Given the description of an element on the screen output the (x, y) to click on. 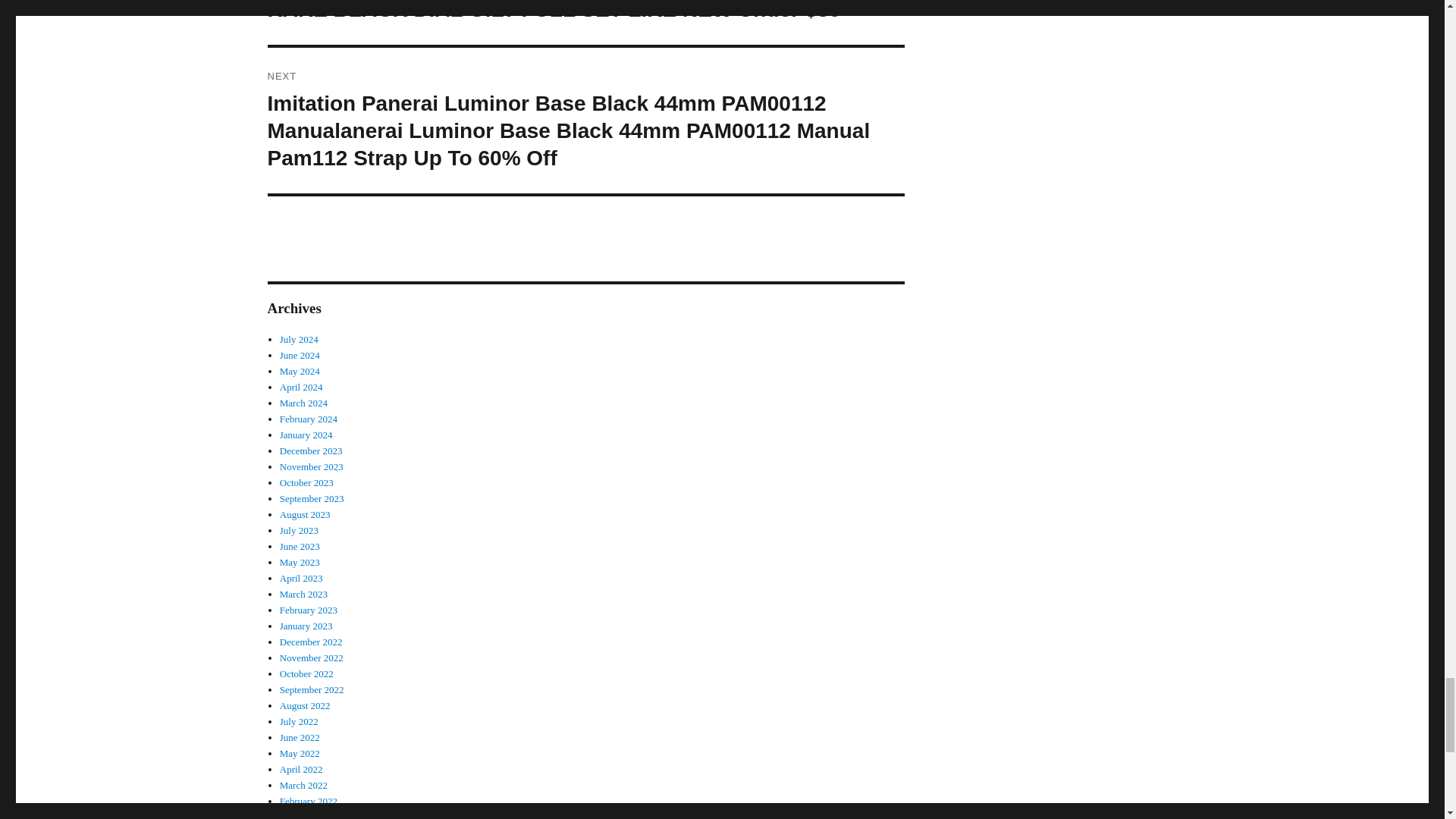
January 2024 (306, 434)
March 2024 (303, 402)
October 2022 (306, 673)
July 2023 (298, 530)
June 2024 (299, 355)
September 2023 (311, 498)
May 2024 (299, 370)
January 2023 (306, 625)
May 2023 (299, 562)
February 2024 (308, 419)
March 2023 (303, 593)
October 2023 (306, 482)
February 2023 (308, 609)
June 2023 (299, 546)
November 2023 (311, 466)
